Given the description of an element on the screen output the (x, y) to click on. 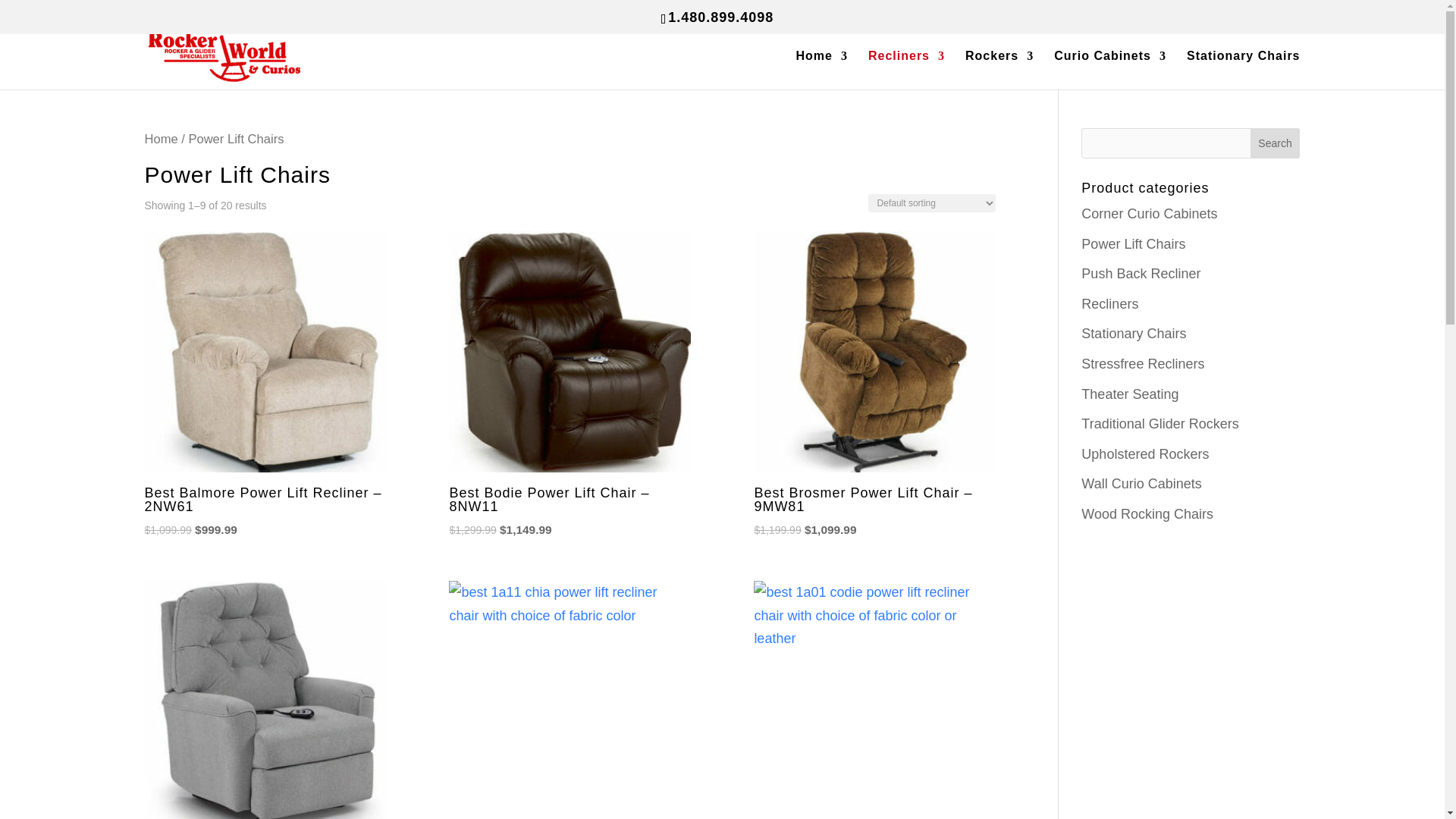
Recliners (1109, 304)
Upholstered Rockers (1144, 453)
Search (1275, 142)
Wall Curio Cabinets (1141, 483)
Stationary Chairs (1243, 69)
Stationary Chairs (1133, 333)
Power Lift Chairs (1133, 243)
Curio Cabinets (1110, 69)
Home (821, 69)
Theater Seating (1129, 394)
Push Back Recliner (1140, 273)
Traditional Glider Rockers (1160, 423)
Home (160, 138)
Recliners (905, 69)
Stressfree Recliners (1142, 363)
